Given the description of an element on the screen output the (x, y) to click on. 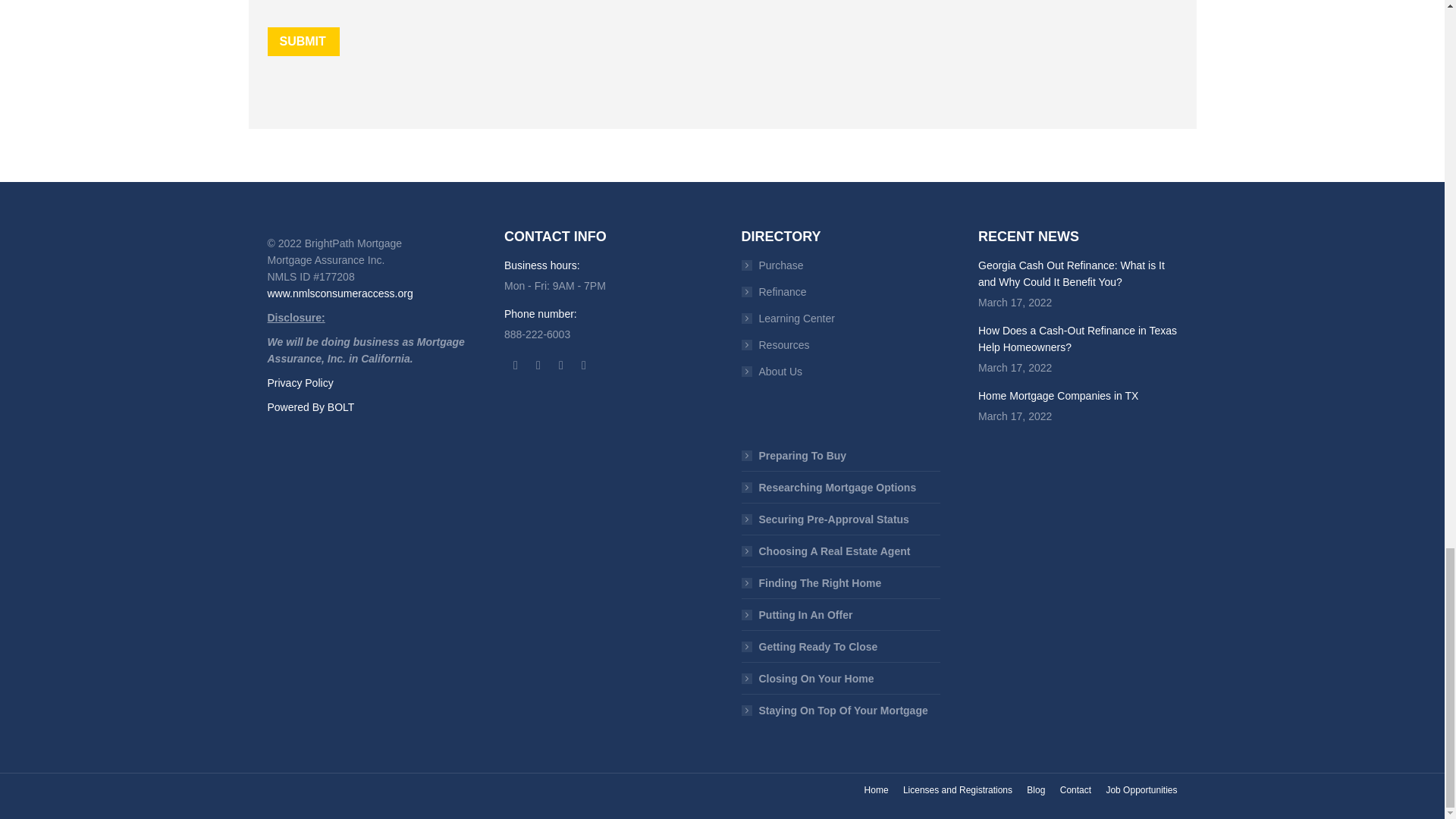
Linkedin page opens in new window (583, 365)
Facebook page opens in new window (515, 365)
Submit (302, 41)
YouTube page opens in new window (560, 365)
X page opens in new window (538, 365)
